Given the description of an element on the screen output the (x, y) to click on. 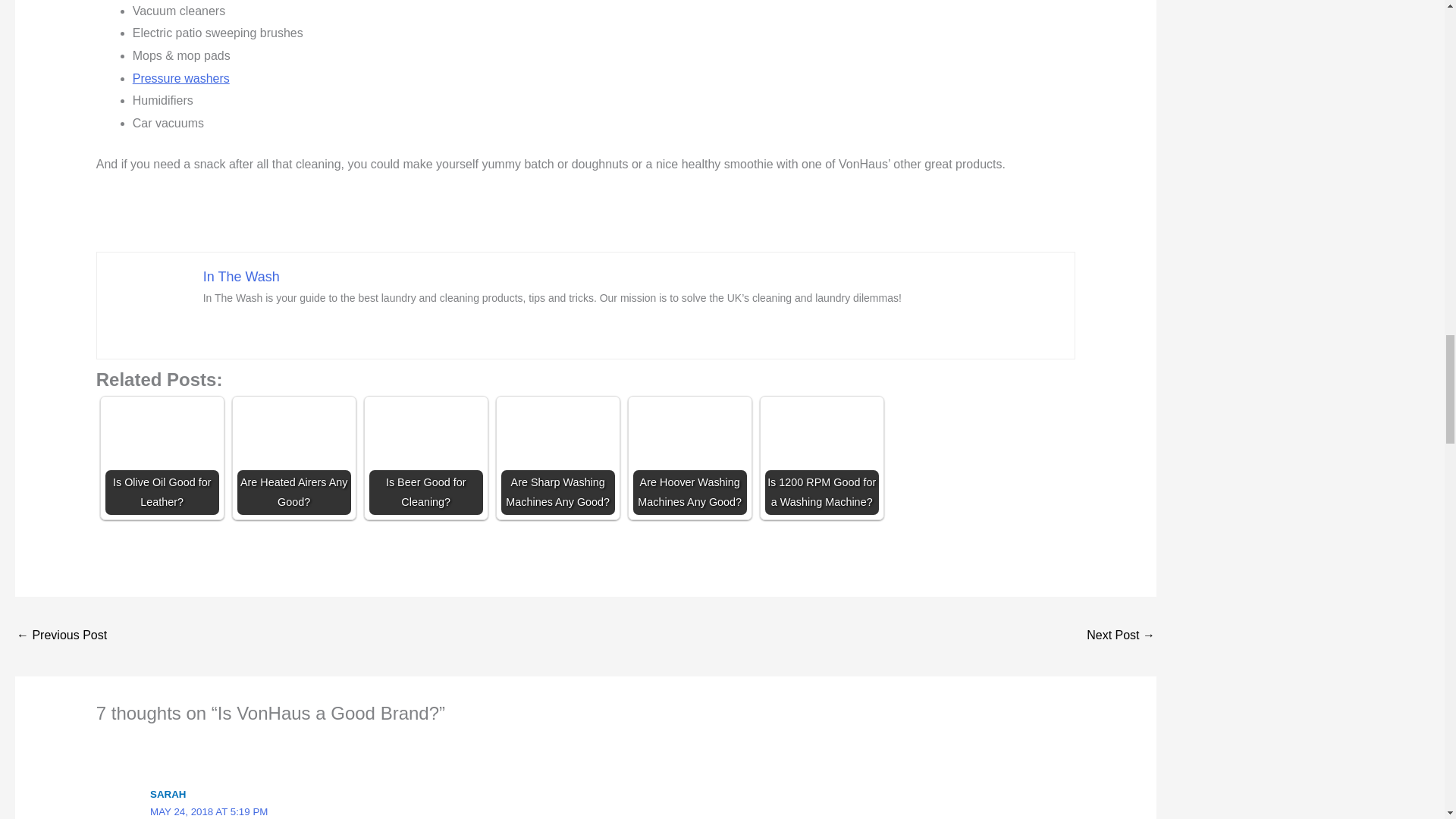
MAY 24, 2018 AT 5:19 PM (208, 811)
Is Olive Oil Good for Leather? (161, 458)
Are Heated Airers Any Good? (293, 458)
Tips for Using Bicarbonate of Soda to Remove Stains (61, 636)
Are Sharp Washing Machines Any Good? (557, 458)
In The Wash (241, 276)
Is Beer Good for Cleaning? (426, 458)
Is 1200 RPM Good for a Washing Machine? (822, 458)
Pressure washers (181, 78)
Are Hoover Washing Machines Any Good? (689, 458)
